Given the description of an element on the screen output the (x, y) to click on. 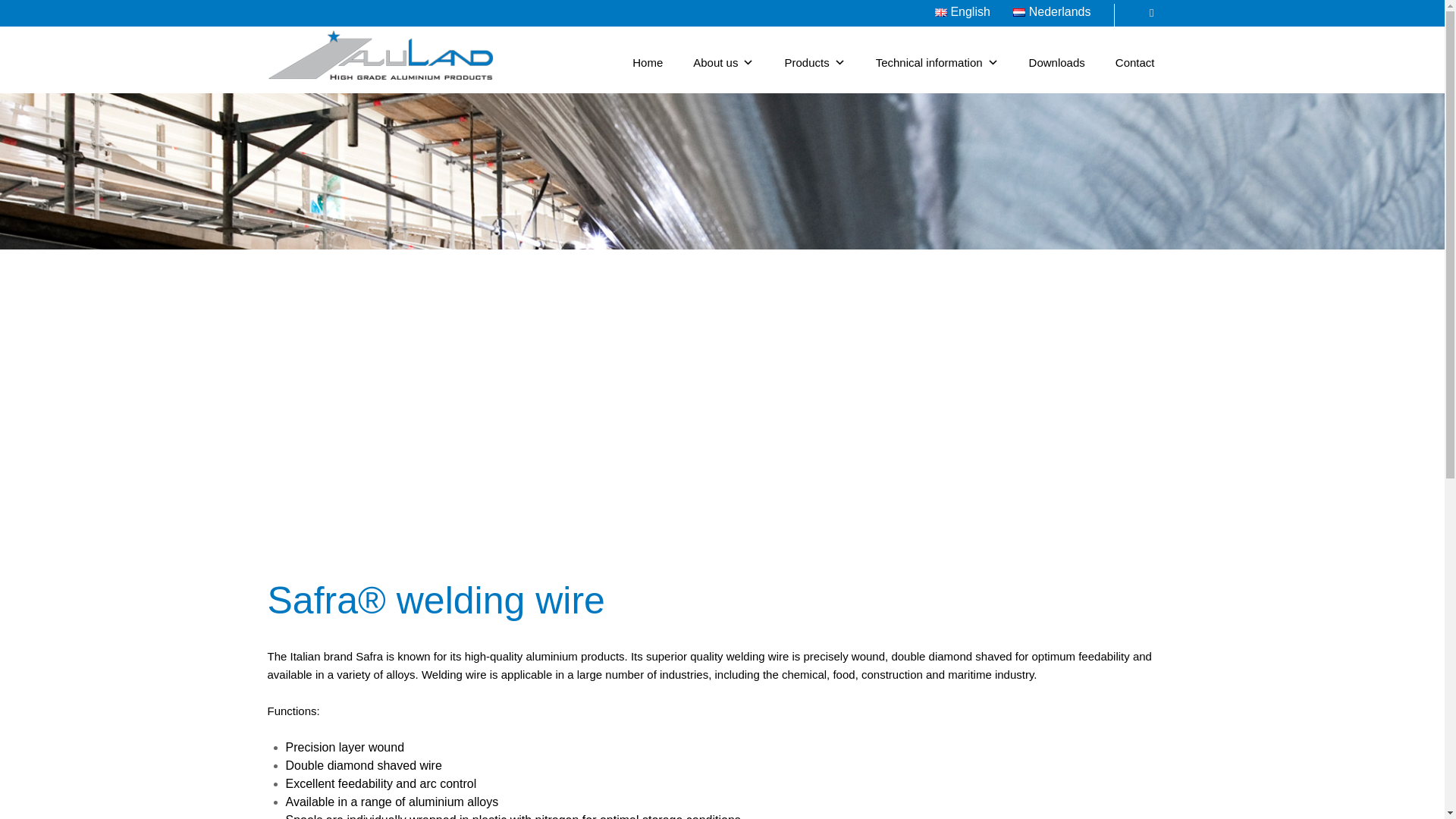
About us (723, 62)
Gantry 5 (380, 55)
Nederlands (1051, 11)
Home (646, 62)
Products (813, 62)
English (962, 11)
